Given the description of an element on the screen output the (x, y) to click on. 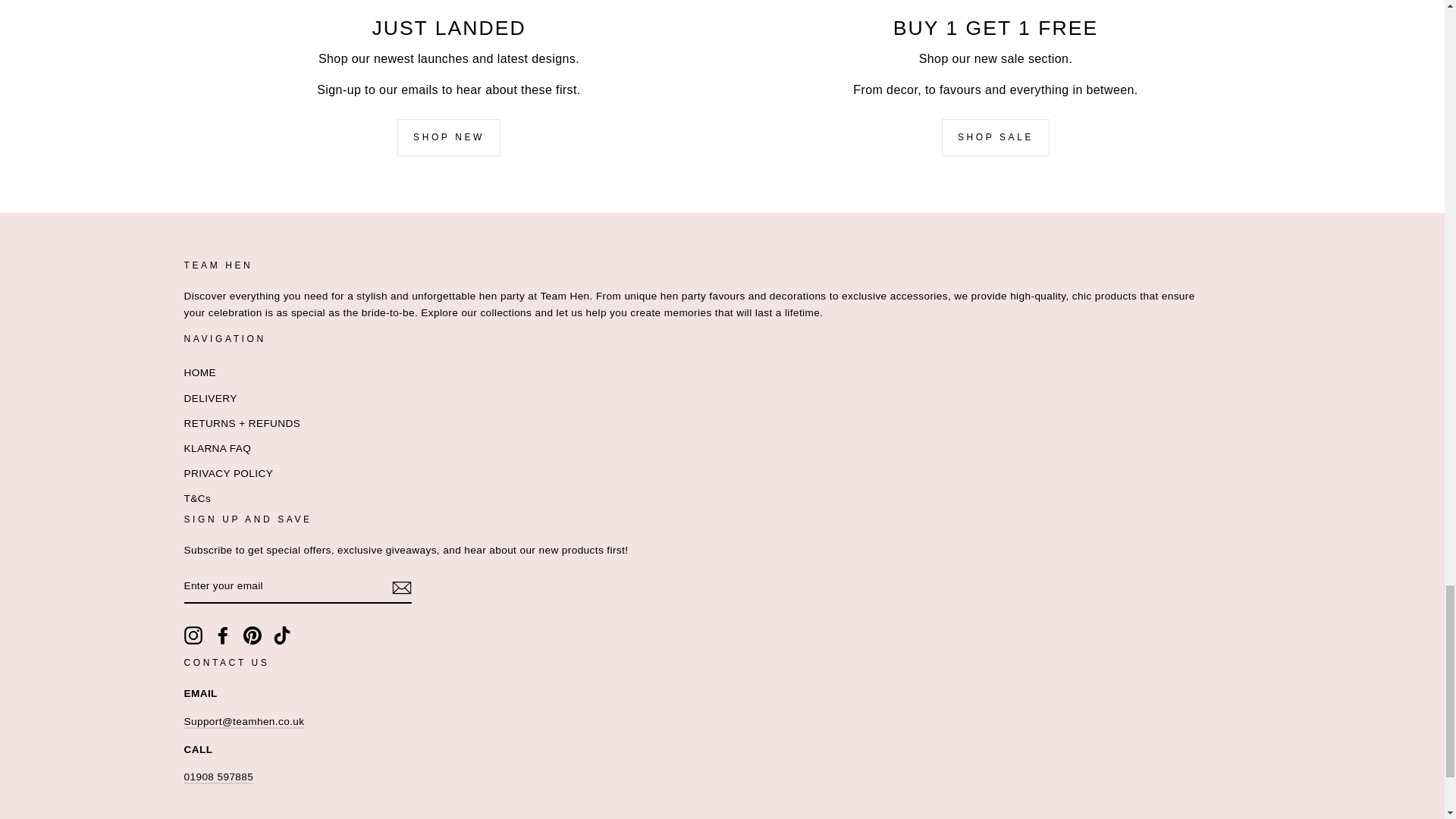
Team Hen on Pinterest (251, 635)
Team Hen on TikTok (282, 635)
Team Hen on Instagram (192, 635)
Team Hen on Facebook (222, 635)
